Given the description of an element on the screen output the (x, y) to click on. 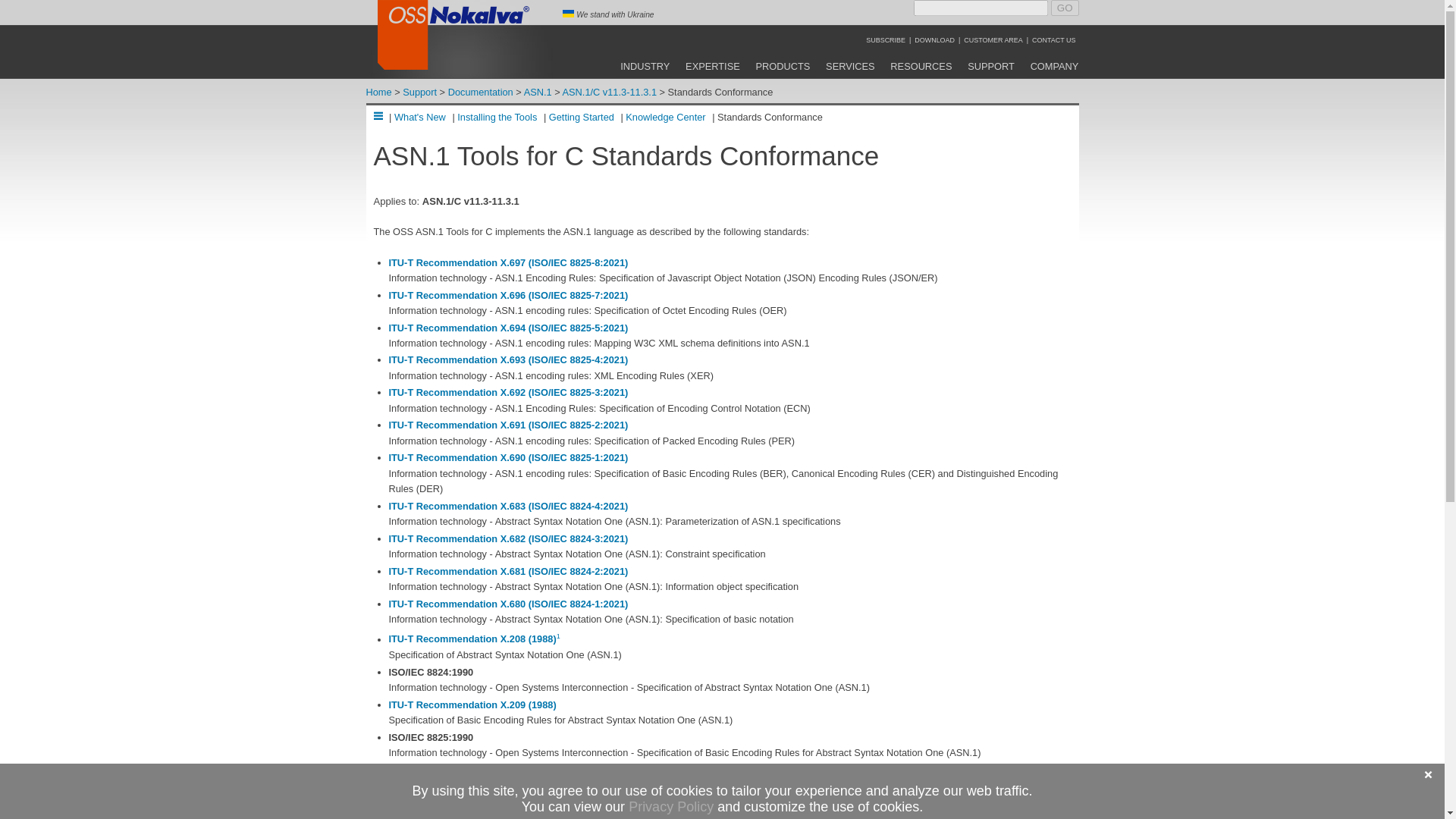
CUSTOMER AREA (992, 40)
SERVICES (850, 65)
EXPERTISE (712, 65)
CONTACT US (1053, 40)
GO (1064, 7)
RESOURCES (920, 65)
INDUSTRY (643, 65)
DOWNLOAD (934, 40)
SUBSCRIBE (885, 40)
SUPPORT (990, 65)
PRODUCTS (782, 65)
GO (1064, 7)
COMPANY (1054, 65)
